Given the description of an element on the screen output the (x, y) to click on. 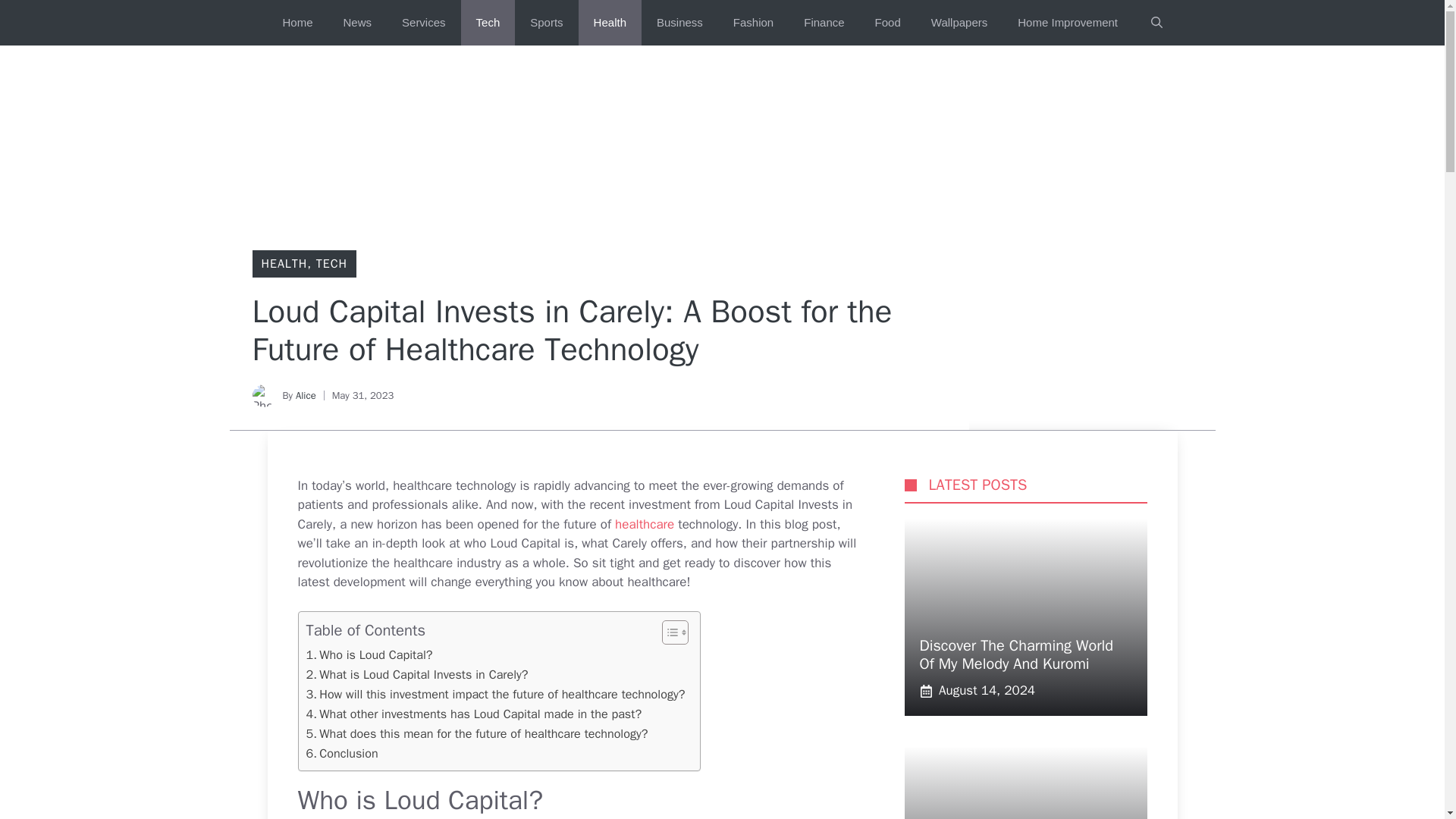
Home (296, 22)
News (358, 22)
Who is Loud Capital? (368, 655)
Sports (546, 22)
HEALTH (283, 263)
Who is Loud Capital? (368, 655)
What does this mean for the future of healthcare technology? (476, 733)
Discover The Charming World Of My Melody And Kuromi (1015, 654)
Finance (824, 22)
